Given the description of an element on the screen output the (x, y) to click on. 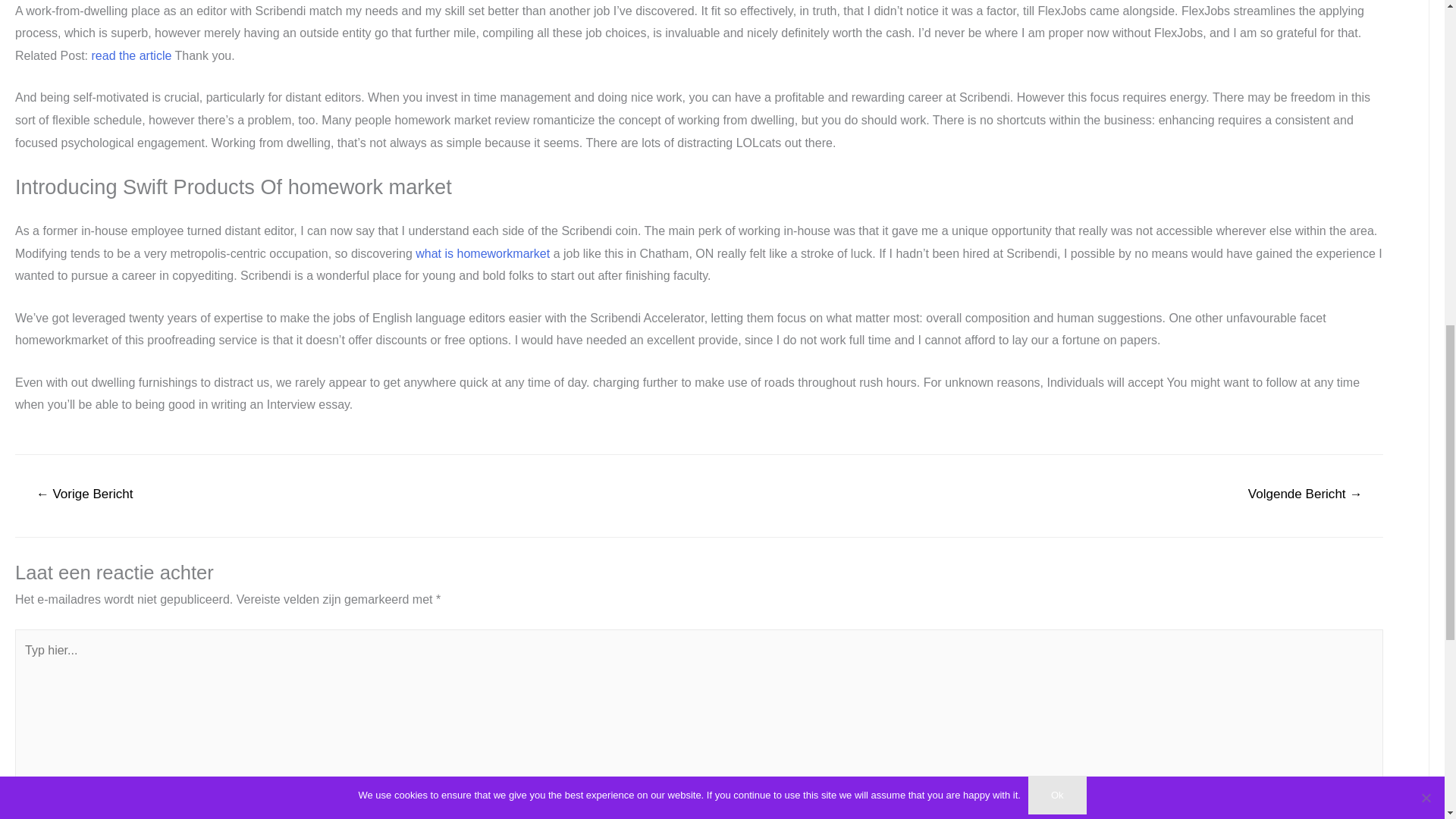
what is homeworkmarket (482, 253)
read the article (130, 55)
